Given the description of an element on the screen output the (x, y) to click on. 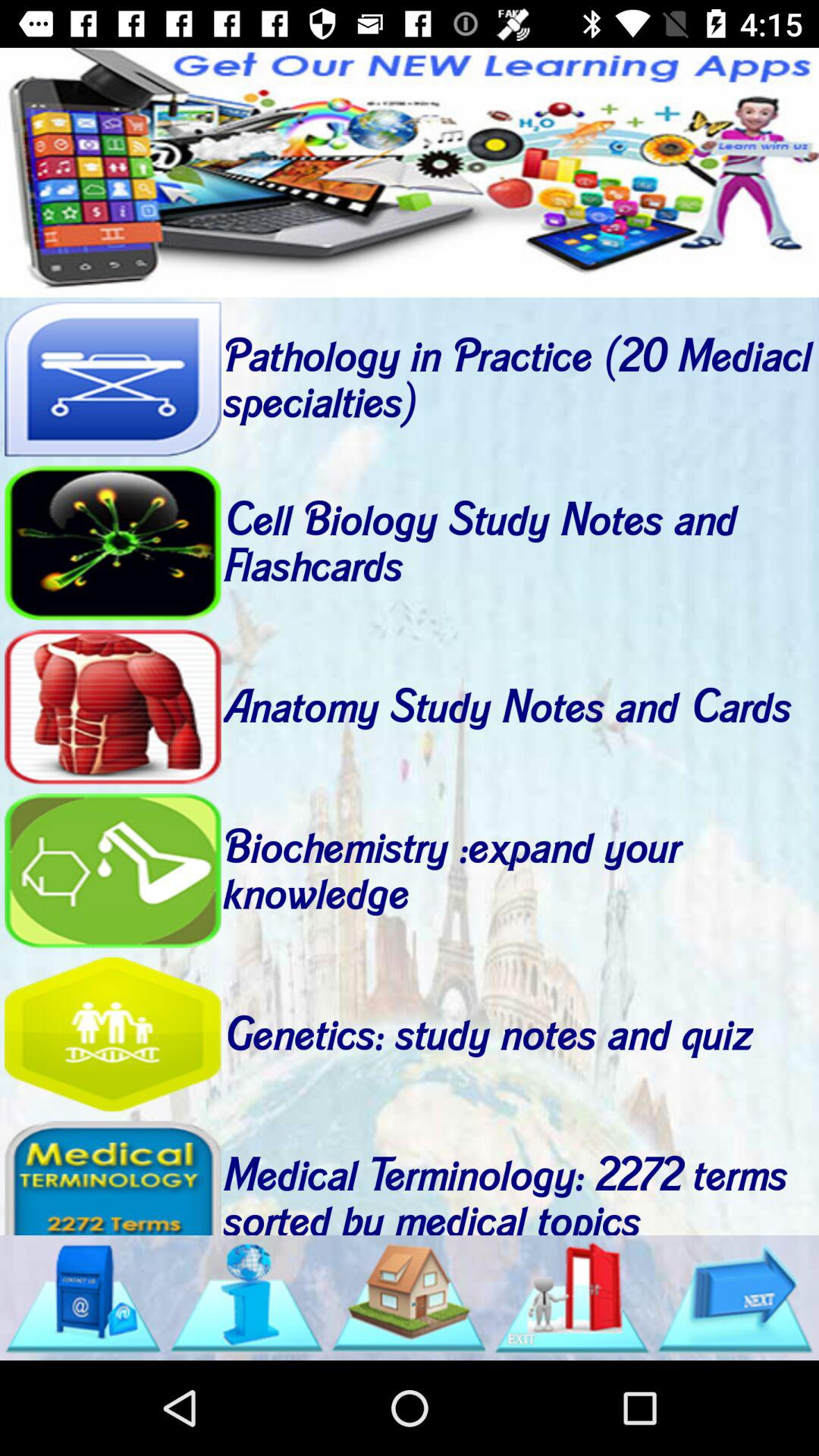
click to view more (112, 1176)
